Given the description of an element on the screen output the (x, y) to click on. 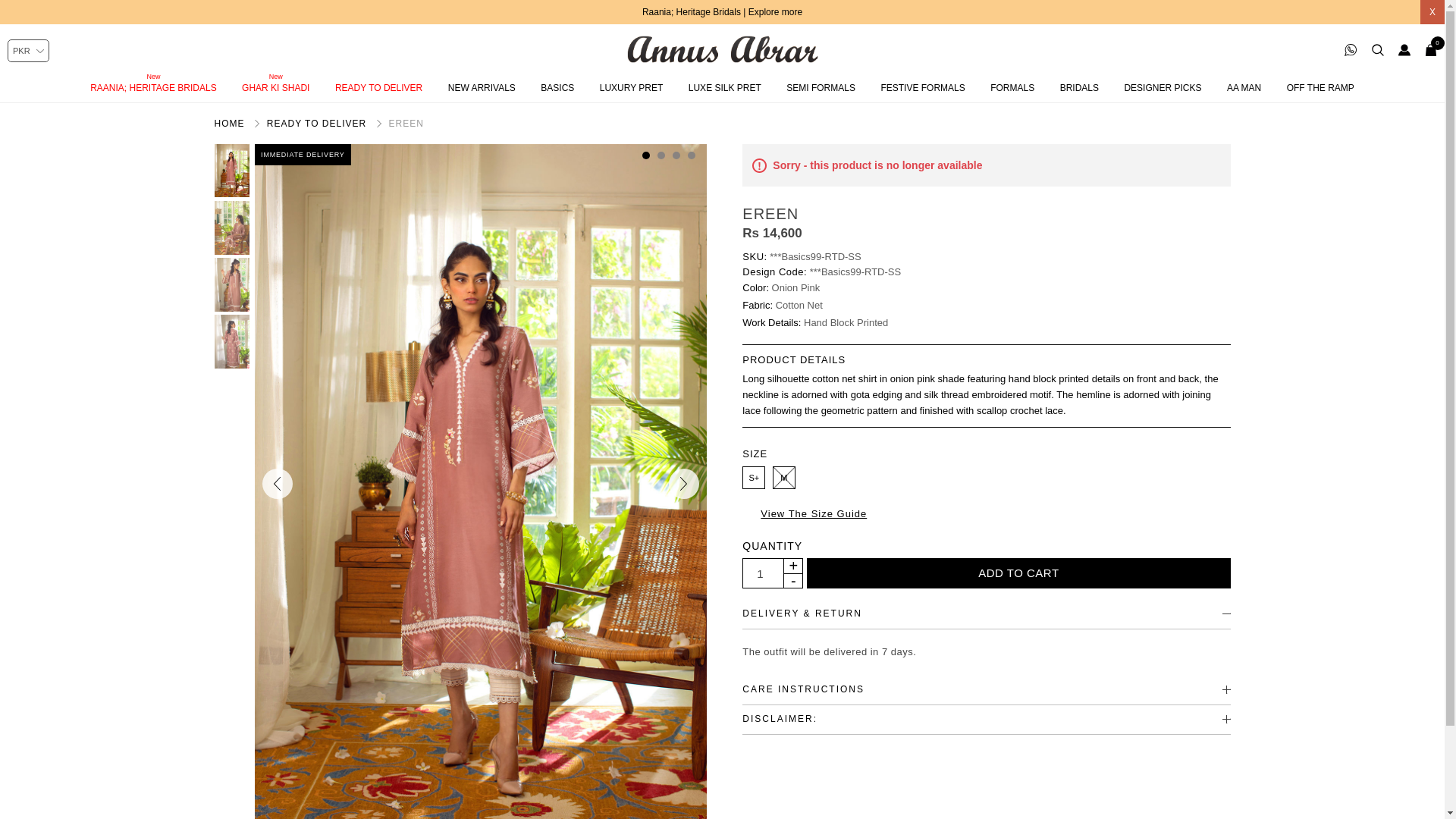
NEW ARRIVALS (481, 88)
- (792, 580)
OFF THE RAMP (1320, 88)
AA MAN (1244, 88)
FORMALS (1012, 88)
BASICS (556, 88)
READY TO DELIVER (378, 88)
LUXE SILK PRET (724, 88)
Annus Abrar (721, 49)
SEMI FORMALS (820, 88)
